Given the description of an element on the screen output the (x, y) to click on. 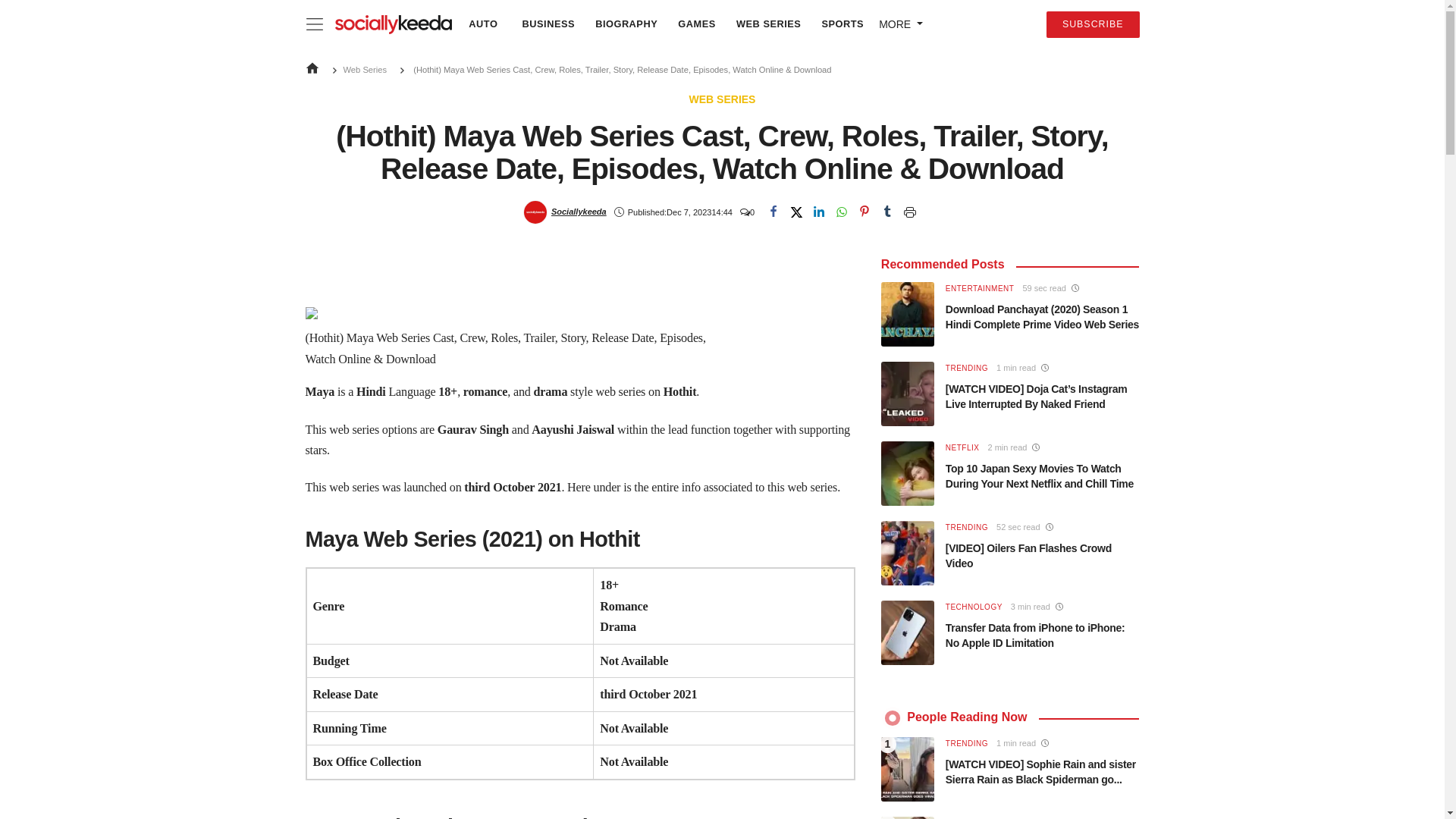
tumblr (887, 211)
pinterest (864, 211)
linkedin (818, 211)
whatsapp (841, 211)
twitter (796, 211)
Facebook (772, 211)
Home (311, 68)
